Given the description of an element on the screen output the (x, y) to click on. 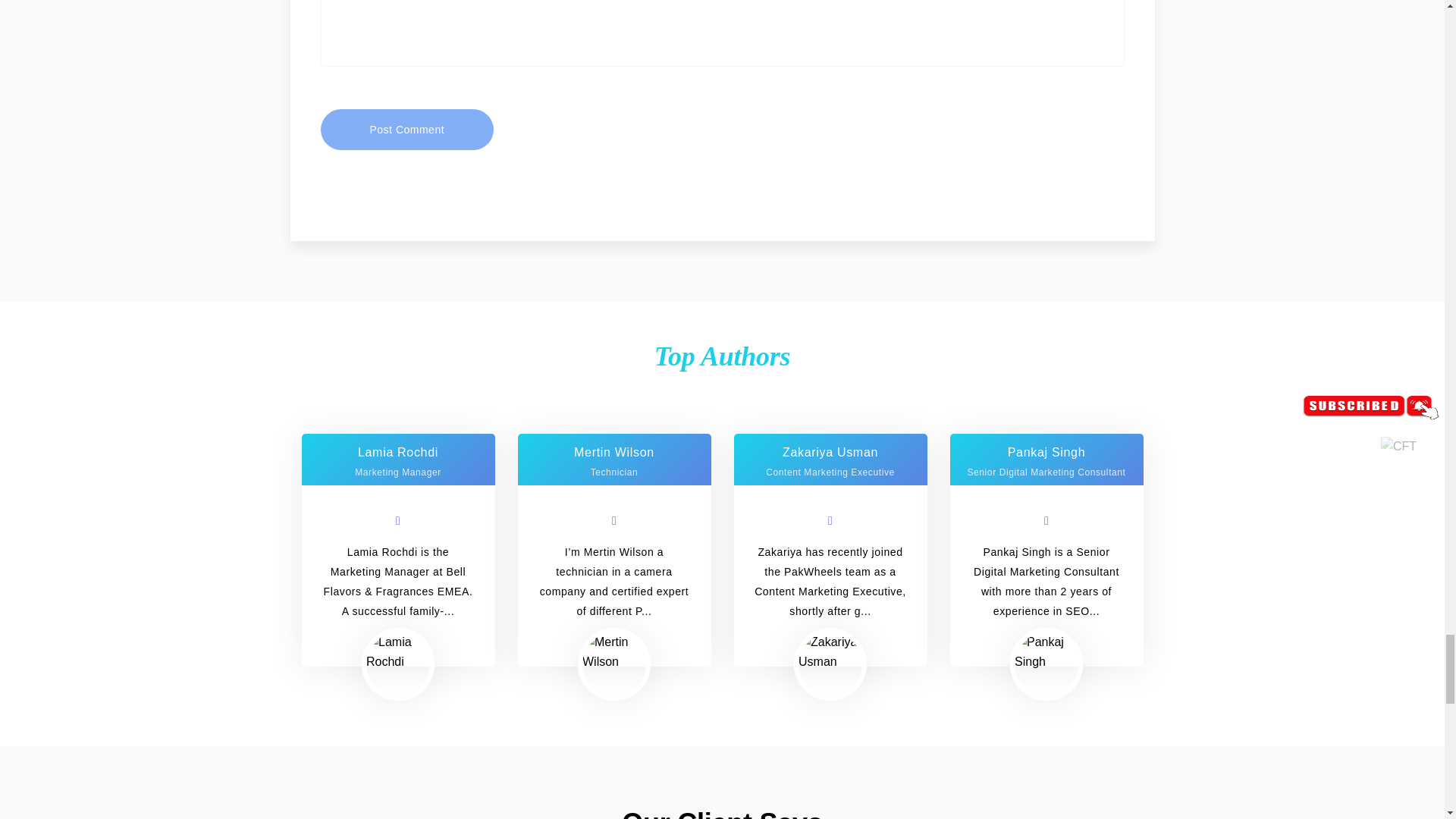
Zakariya Usman (829, 651)
Post Comment (406, 128)
Mertin Wilson (614, 651)
Lamia Rochdi (397, 651)
Pankaj Singh (1046, 651)
